Given the description of an element on the screen output the (x, y) to click on. 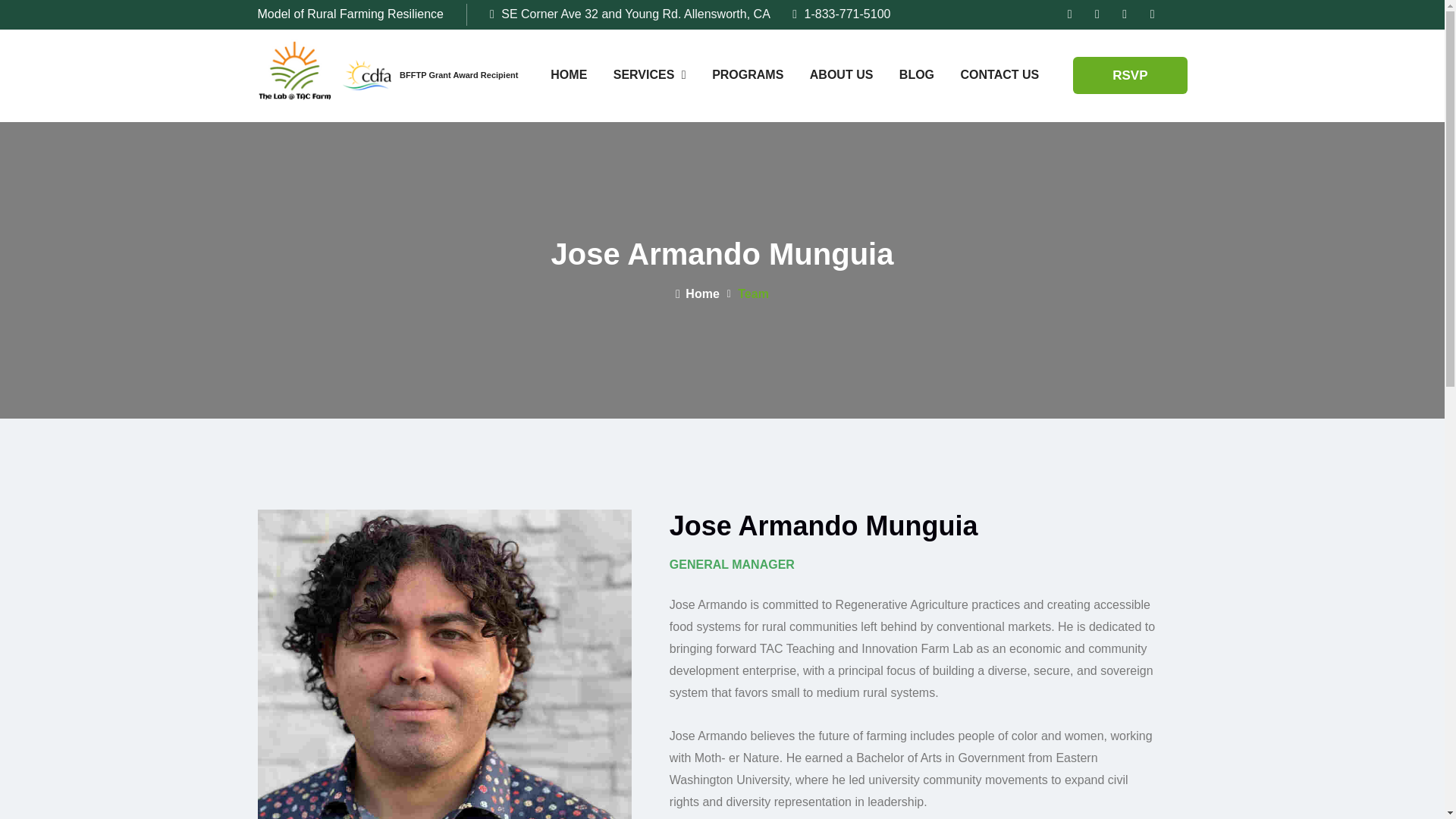
PROGRAMS (747, 74)
ABOUT US (841, 74)
CONTACT US (1000, 74)
Home (697, 293)
RSVP (1129, 74)
SERVICES (649, 74)
